Given the description of an element on the screen output the (x, y) to click on. 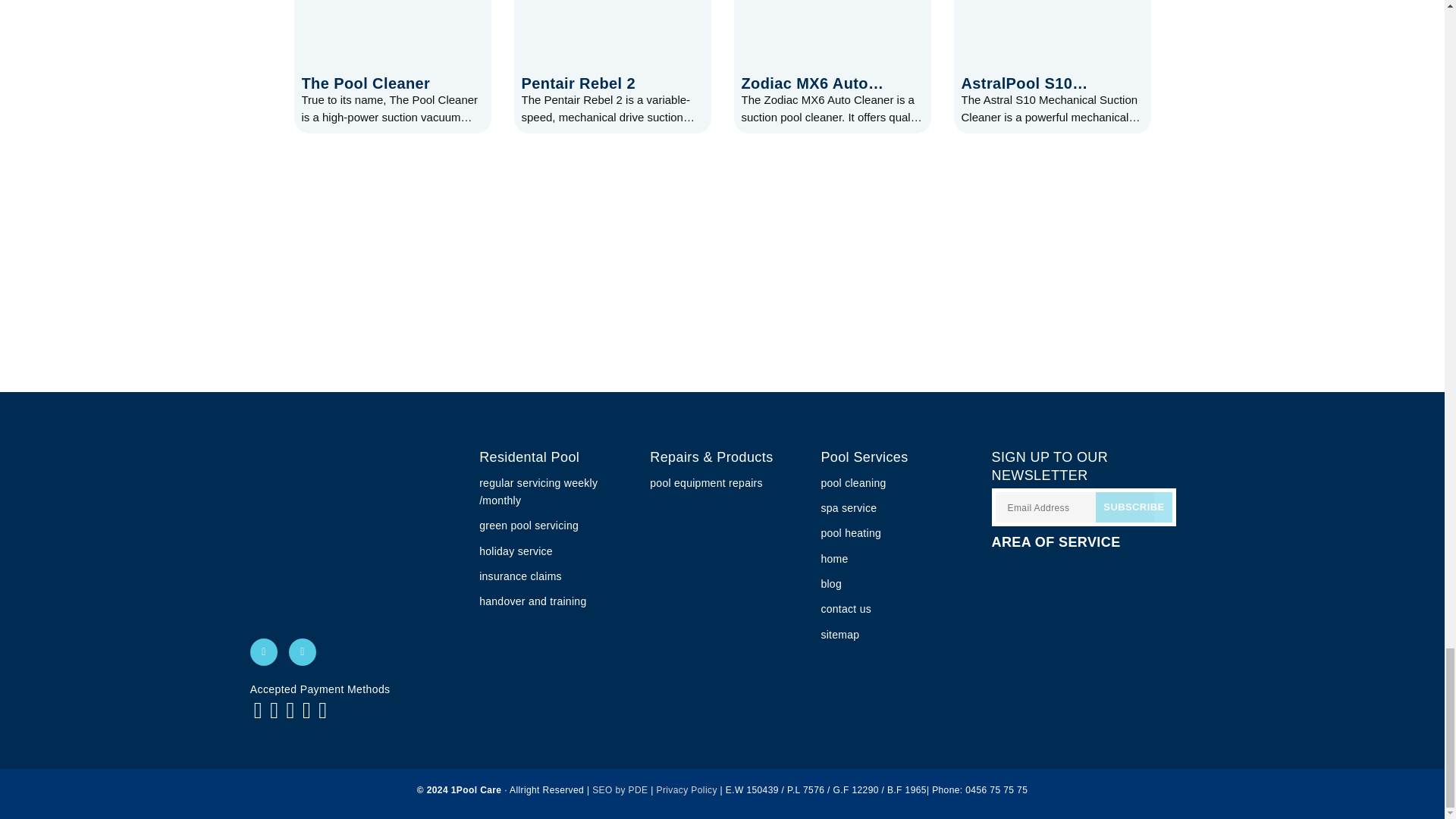
Subscribe (1134, 507)
